Given the description of an element on the screen output the (x, y) to click on. 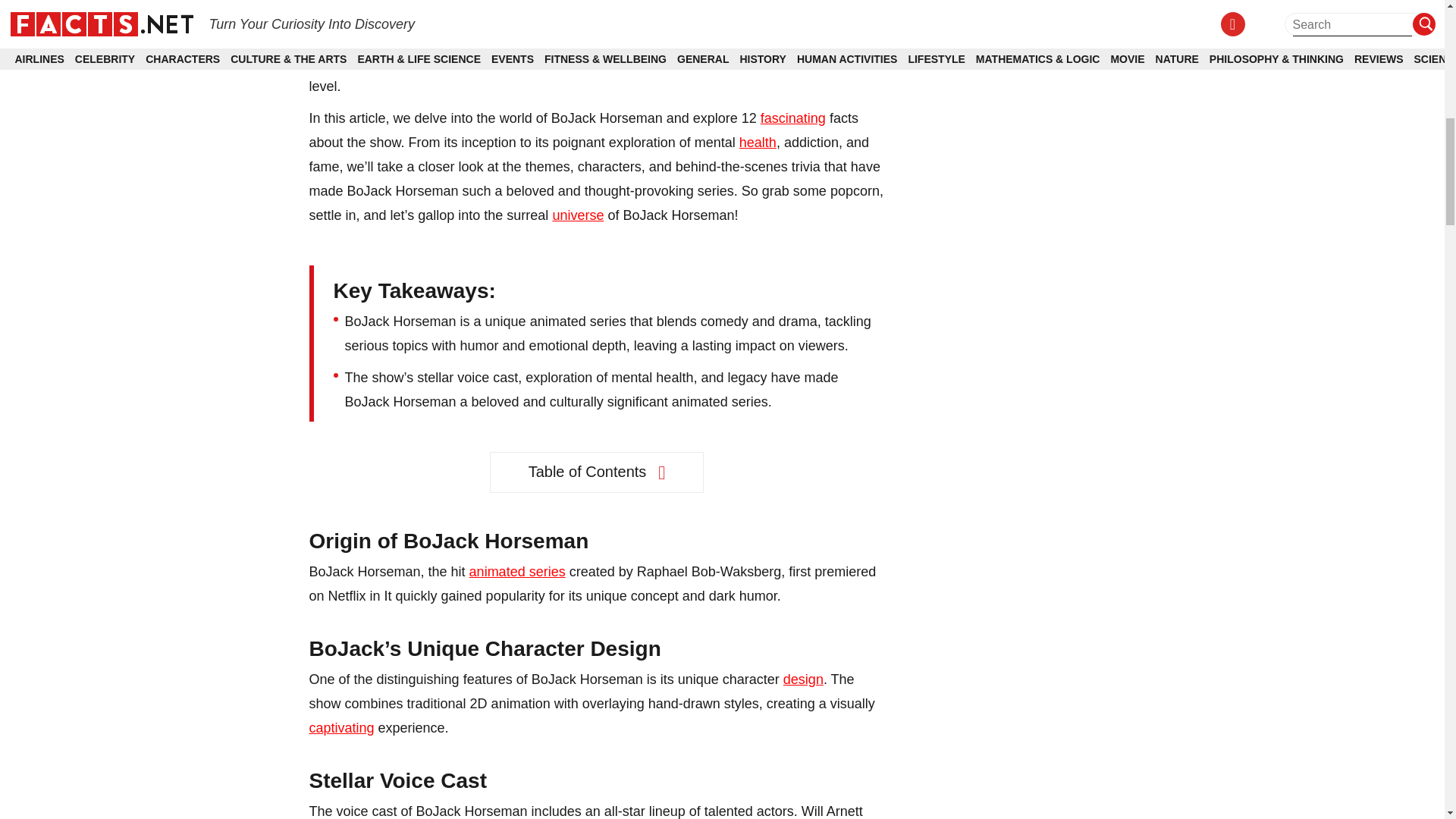
universe (577, 215)
captivating (341, 727)
health (757, 142)
fascinating (792, 118)
animated series (517, 571)
design (803, 679)
